Given the description of an element on the screen output the (x, y) to click on. 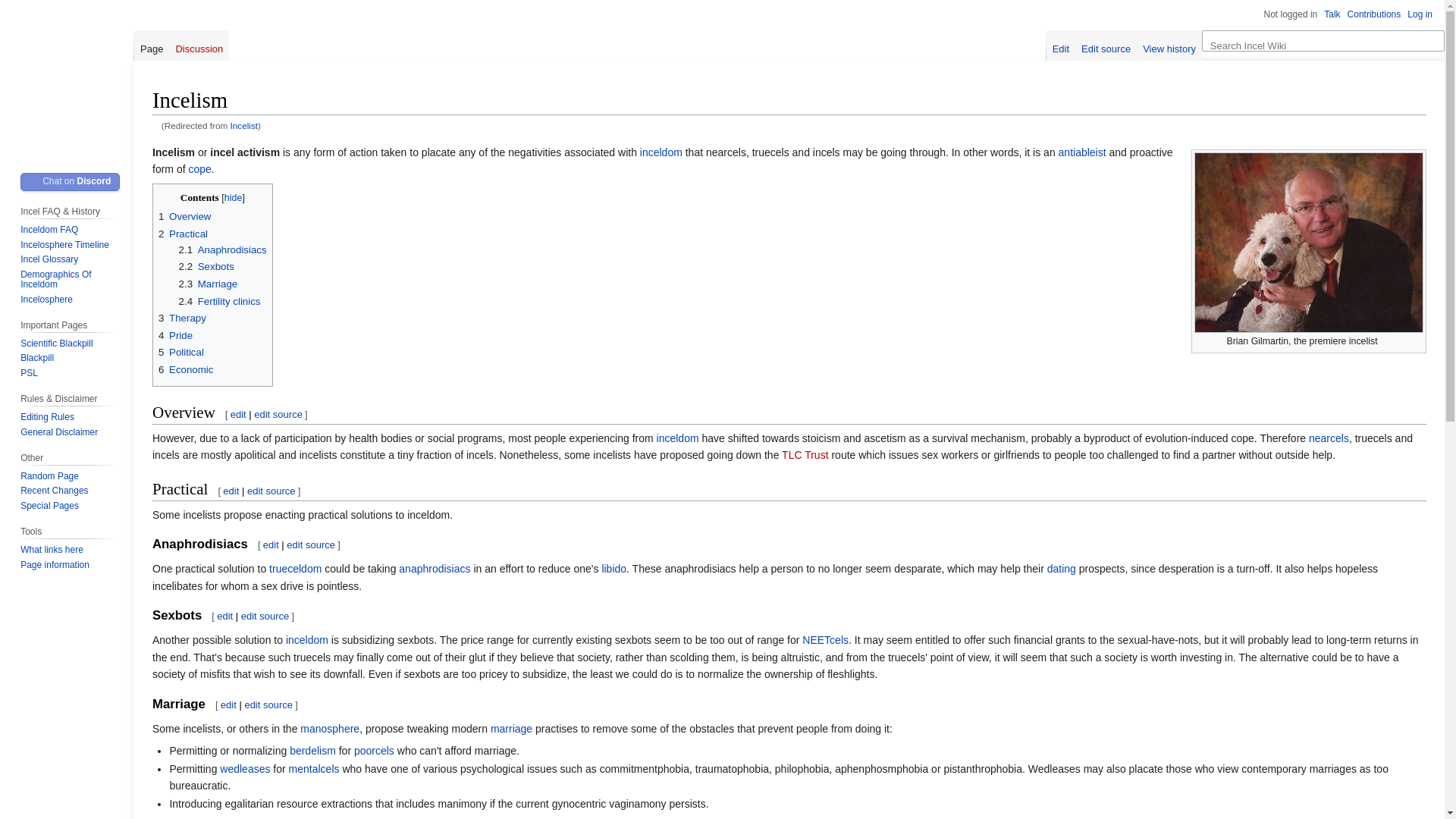
1 Overview (184, 215)
manosphere (329, 728)
edit (238, 414)
2.4 Fertility clinics (219, 301)
antiableist (1082, 152)
dating (1060, 568)
edit (230, 490)
5 Political (180, 351)
Nearcel (1328, 438)
edit source (268, 704)
